Given the description of an element on the screen output the (x, y) to click on. 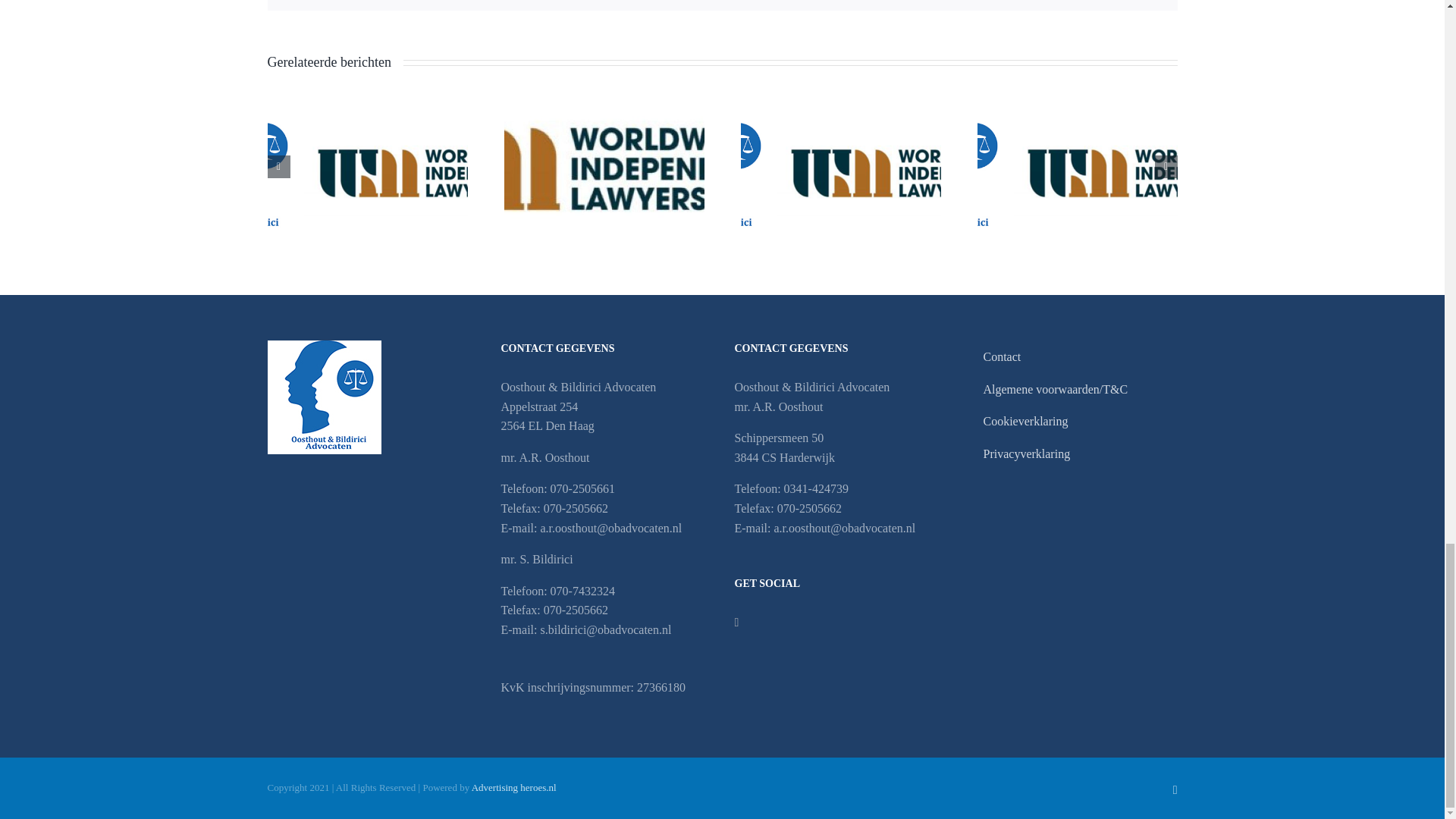
LinkedIn (1175, 789)
LinkedIn (735, 622)
